Given the description of an element on the screen output the (x, y) to click on. 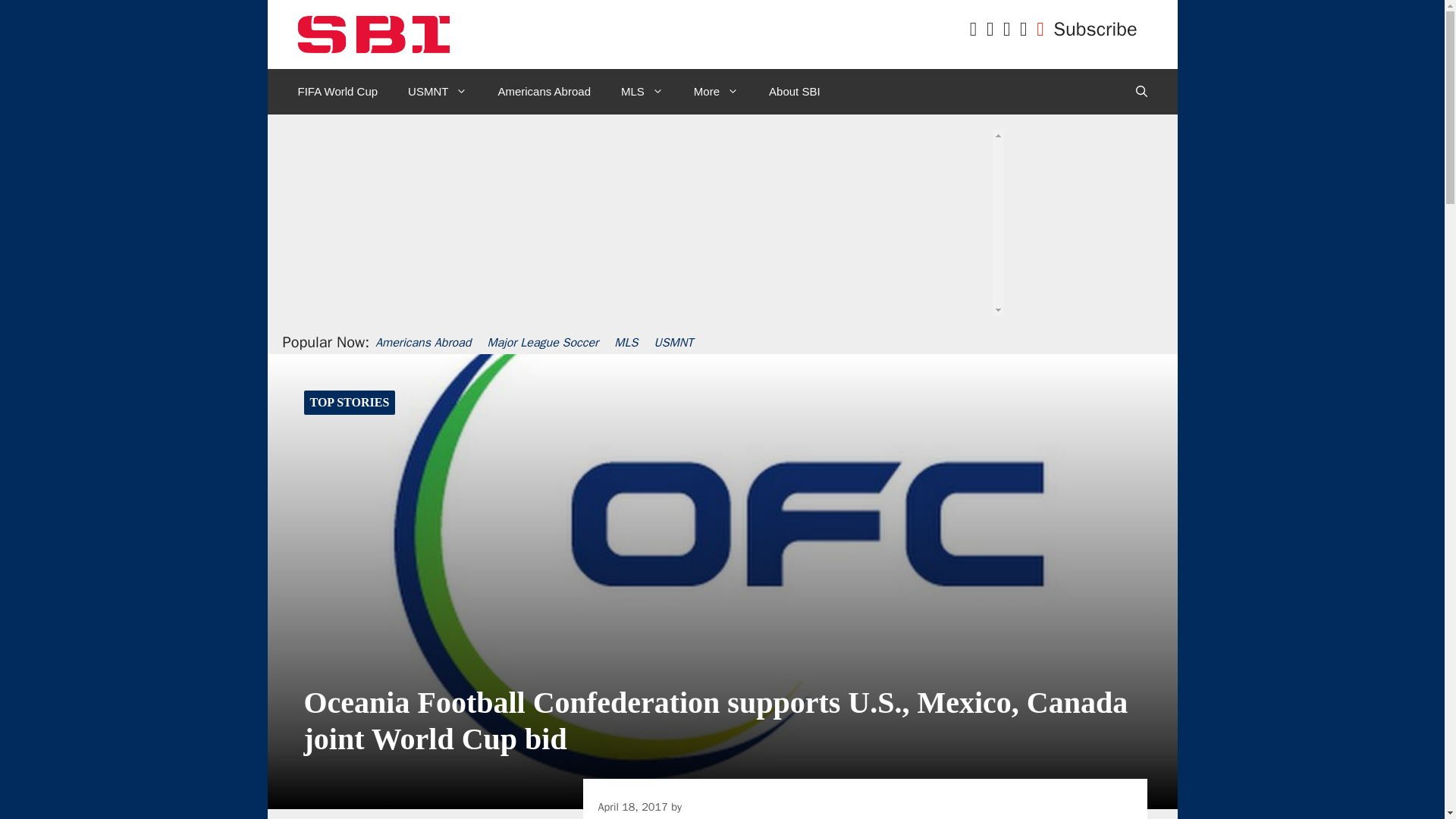
MLS (641, 91)
FIFA World Cup (337, 91)
Advertisement (716, 256)
USMNT (437, 91)
Subscribe (1094, 28)
Americans Abroad (543, 91)
